Given the description of an element on the screen output the (x, y) to click on. 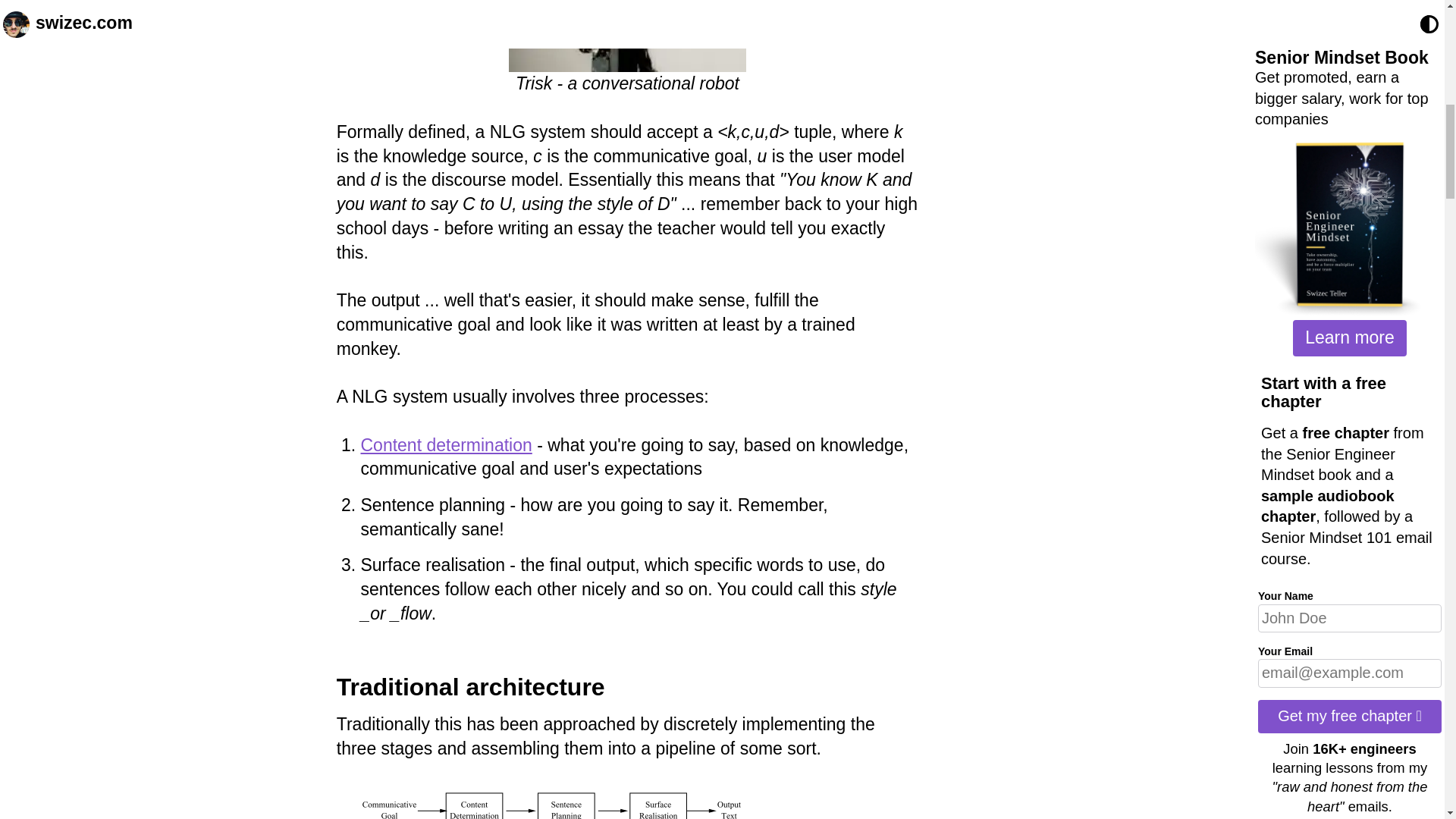
Content determination (445, 444)
Three reiter pipeline architecture (551, 801)
Trisk - a conversational robot (626, 36)
Traditional architecture (470, 687)
Content determination (445, 444)
